Given the description of an element on the screen output the (x, y) to click on. 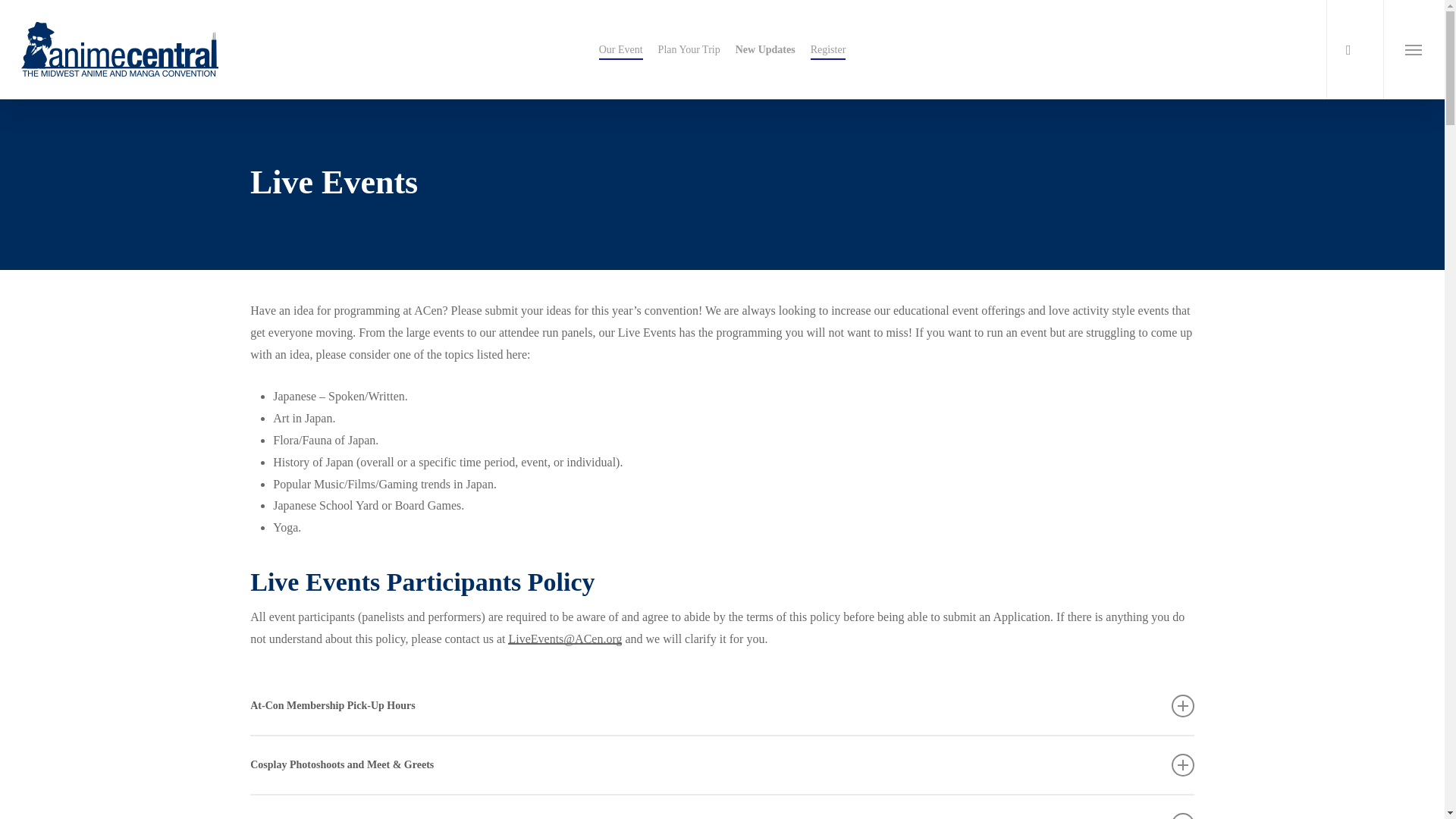
Our Event (620, 49)
Plan Your Trip (689, 49)
